Given the description of an element on the screen output the (x, y) to click on. 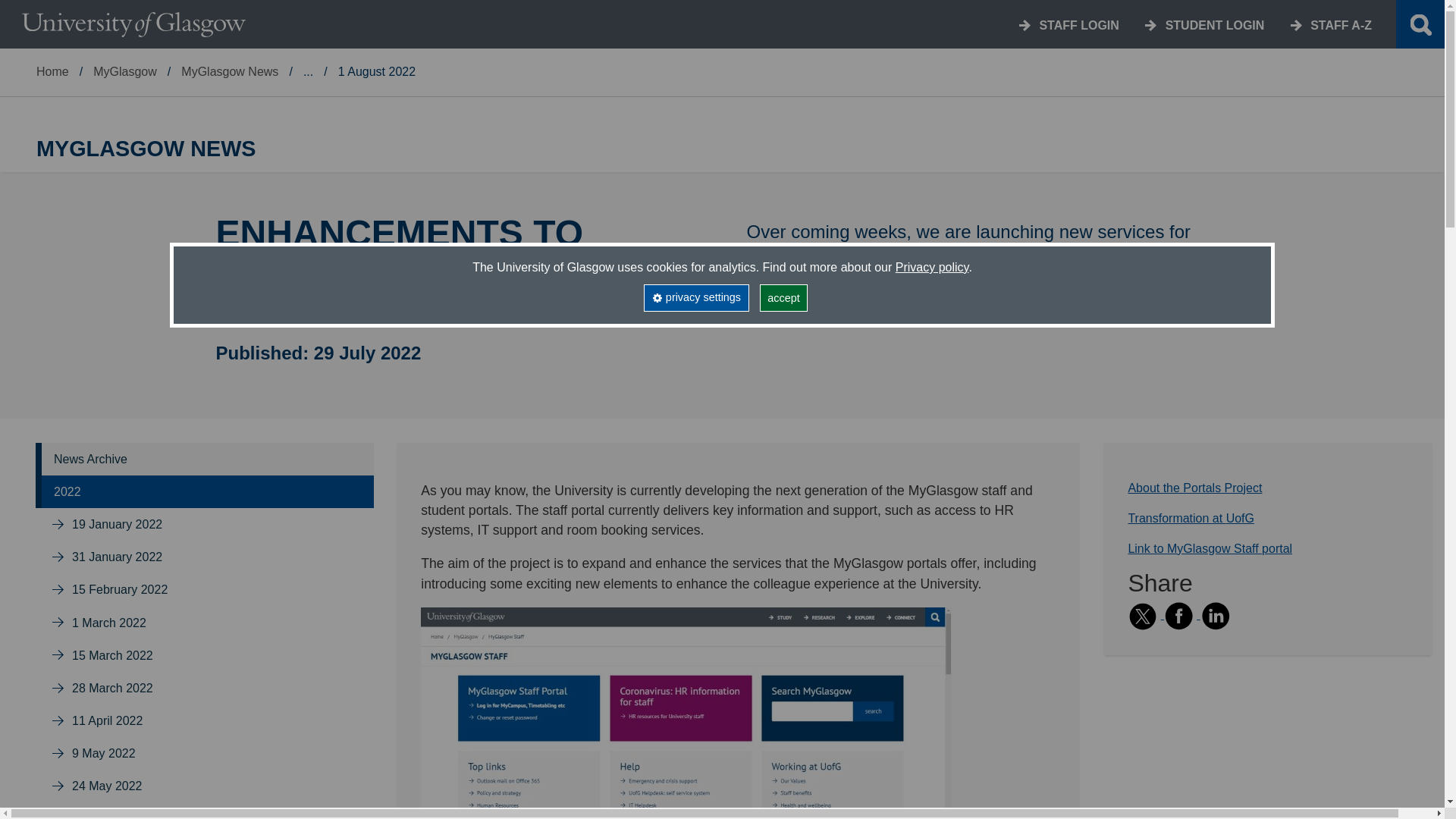
Privacy policy (932, 267)
STAFF LOGIN (1078, 24)
HomeMyGlasgowMyGlasgow News...1 August 2022 (722, 24)
STAFF LOGINSTUDENT LOGINSTAFF A-Z (953, 24)
accept (784, 298)
STUDENT LOGIN (1215, 24)
privacy settings (695, 298)
STAFF A-Z (1340, 24)
MYGLASGOW NEWS (722, 148)
STAFF LOGINSTUDENT LOGINSTAFF A-Z (953, 24)
